Given the description of an element on the screen output the (x, y) to click on. 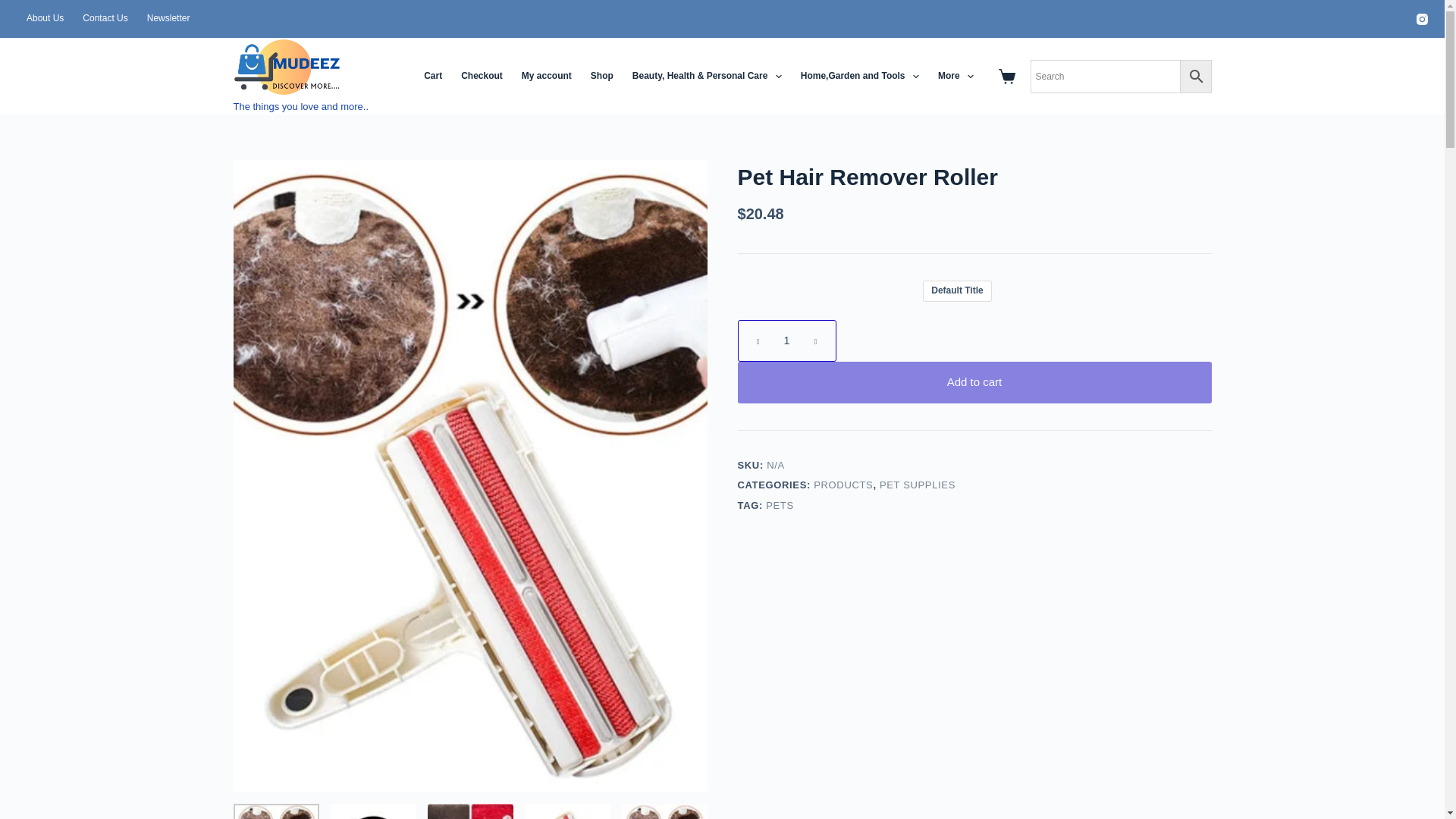
Home,Garden and Tools (859, 75)
Contact Us (105, 18)
1 (785, 340)
My account (546, 75)
Skip to content (15, 7)
Newsletter (167, 18)
About Us (44, 18)
